Given the description of an element on the screen output the (x, y) to click on. 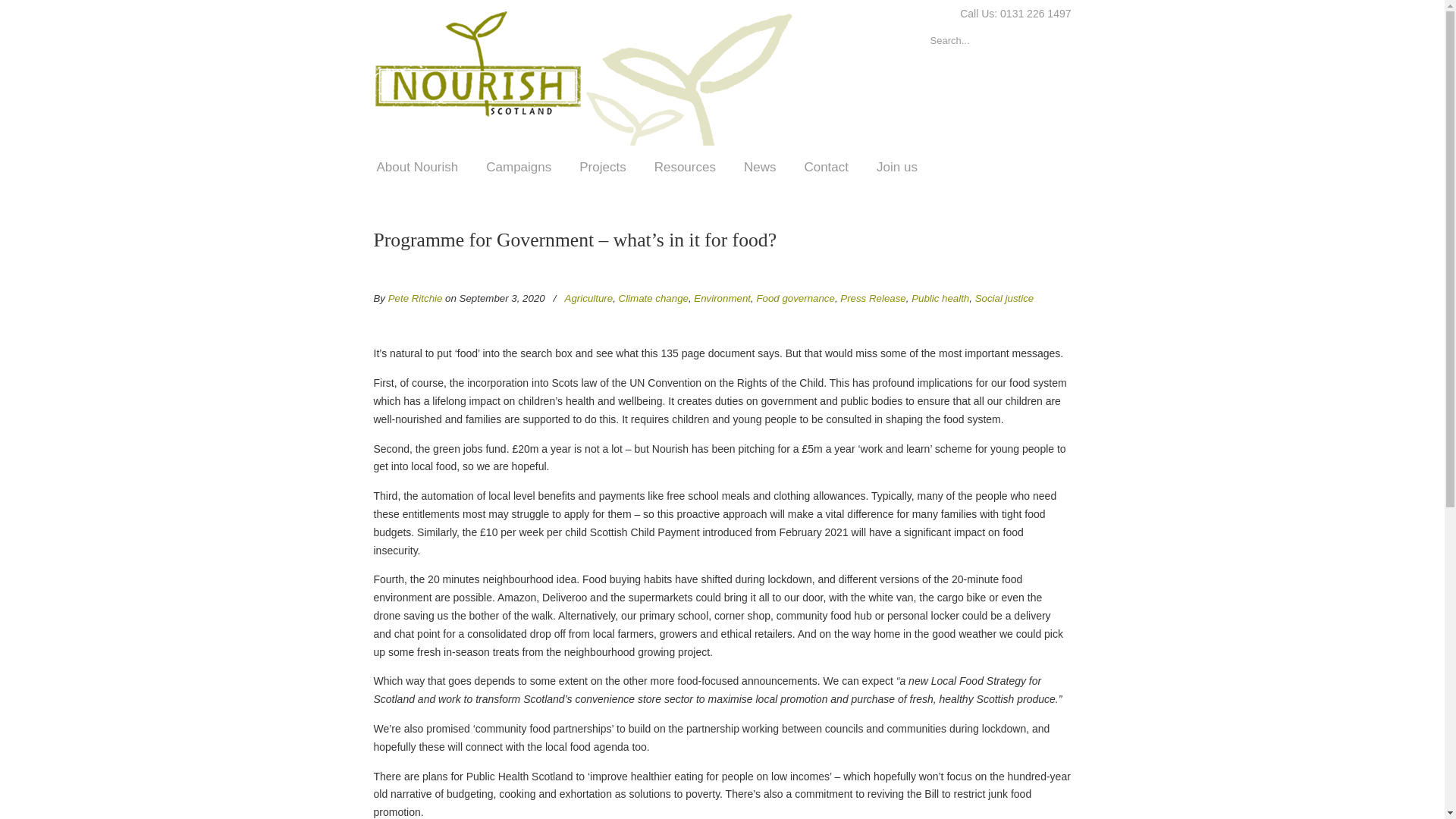
Resources (684, 167)
search (1055, 40)
Search... (978, 40)
search (1055, 40)
Projects (602, 167)
About Nourish (417, 167)
Join us (897, 167)
News (760, 167)
Nourish Scotland (587, 74)
Contact (826, 167)
